Given the description of an element on the screen output the (x, y) to click on. 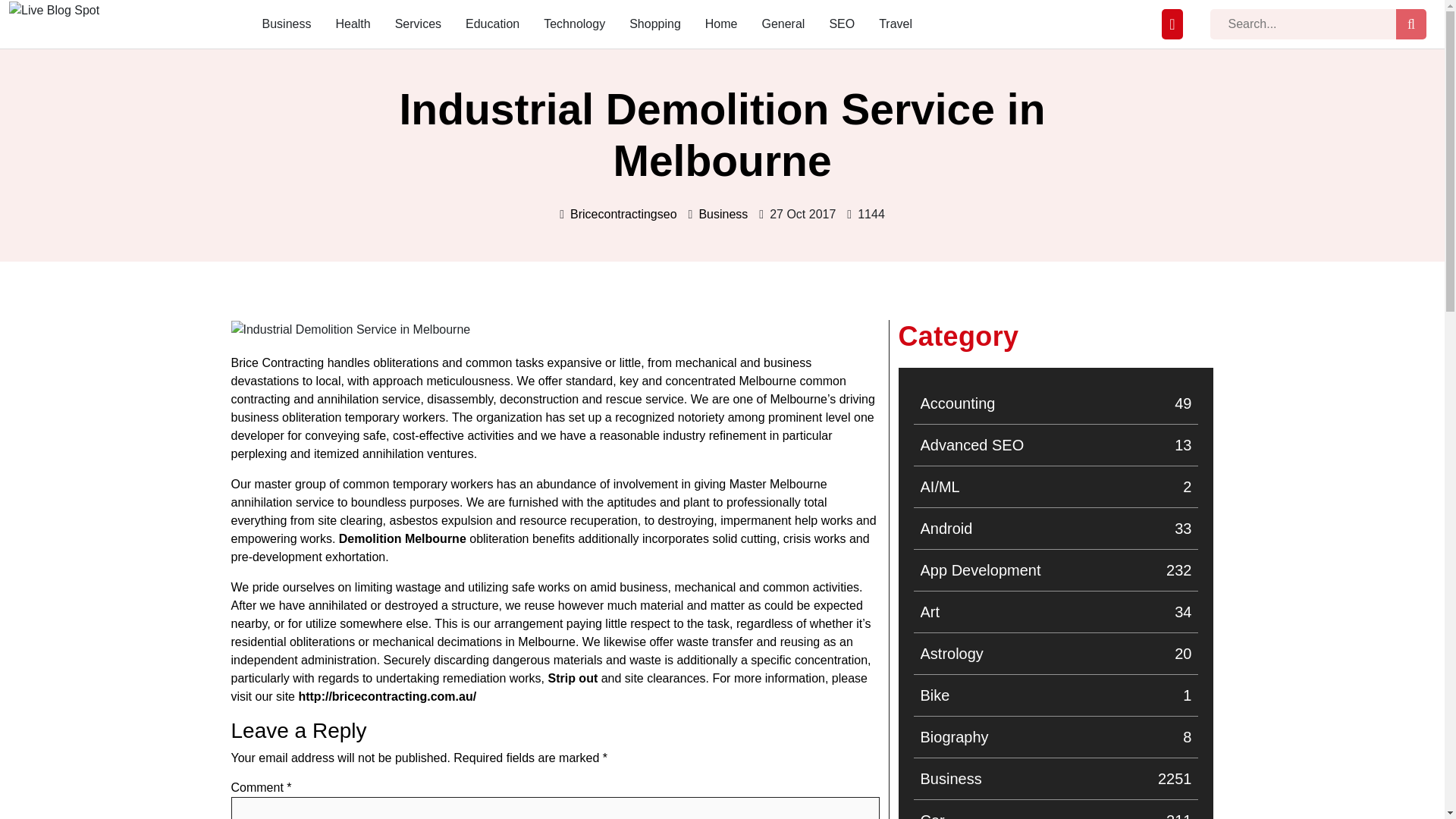
Services (1056, 403)
Business (417, 24)
Industrial Demolition Service in Melbourne (723, 214)
Business (350, 330)
Shopping (1056, 611)
Education (1056, 778)
Bricecontractingseo (1056, 527)
Live Blog Spot (286, 24)
